Given the description of an element on the screen output the (x, y) to click on. 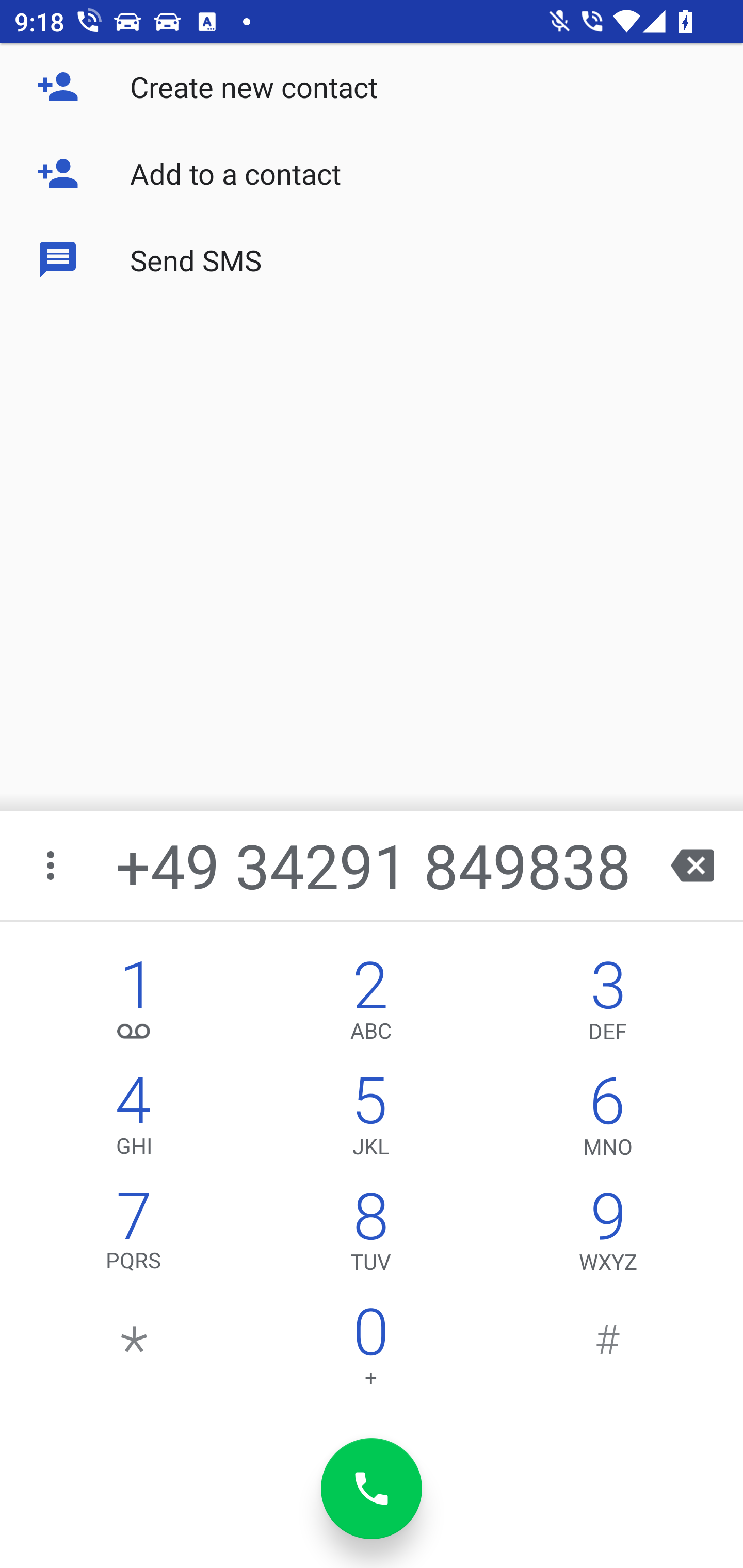
Create new contact (371, 86)
Add to a contact (371, 173)
Send SMS (371, 259)
+49 34291 849838 (372, 865)
backspace (692, 865)
More options (52, 865)
1, 1 (133, 1005)
2,ABC 2 ABC (370, 1005)
3,DEF 3 DEF (607, 1005)
4,GHI 4 GHI (133, 1120)
5,JKL 5 JKL (370, 1120)
6,MNO 6 MNO (607, 1120)
7,PQRS 7 PQRS (133, 1235)
8,TUV 8 TUV (370, 1235)
9,WXYZ 9 WXYZ (607, 1235)
* (133, 1351)
0 0 + (370, 1351)
# (607, 1351)
dial (371, 1488)
